Given the description of an element on the screen output the (x, y) to click on. 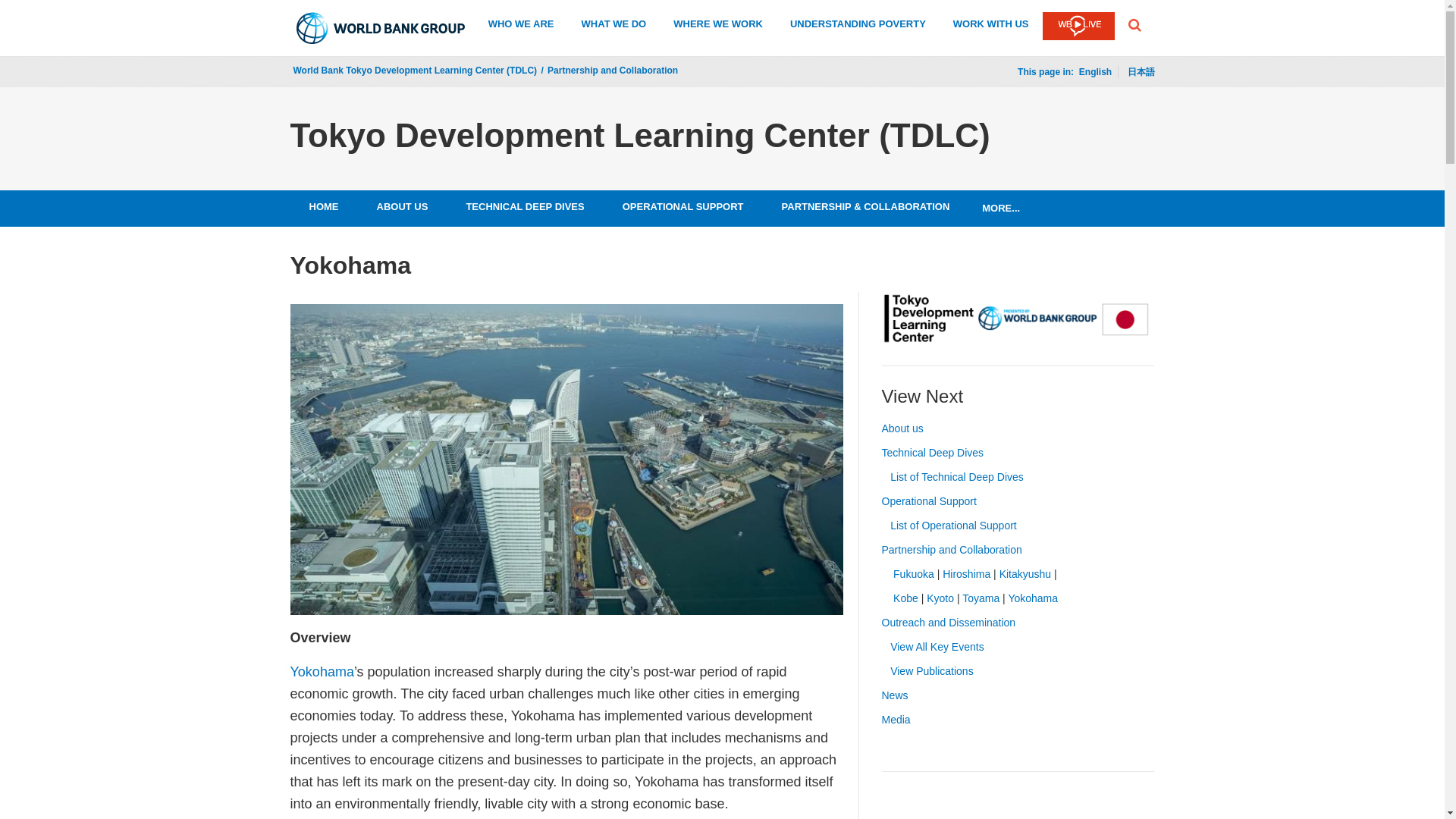
WHO WE ARE (521, 25)
The World Bank Group logo (380, 28)
Technical Deep Dives (524, 206)
Global Search (1134, 24)
About Us (402, 206)
Operational Support (683, 206)
Home (323, 206)
WHAT WE DO (613, 25)
